Given the description of an element on the screen output the (x, y) to click on. 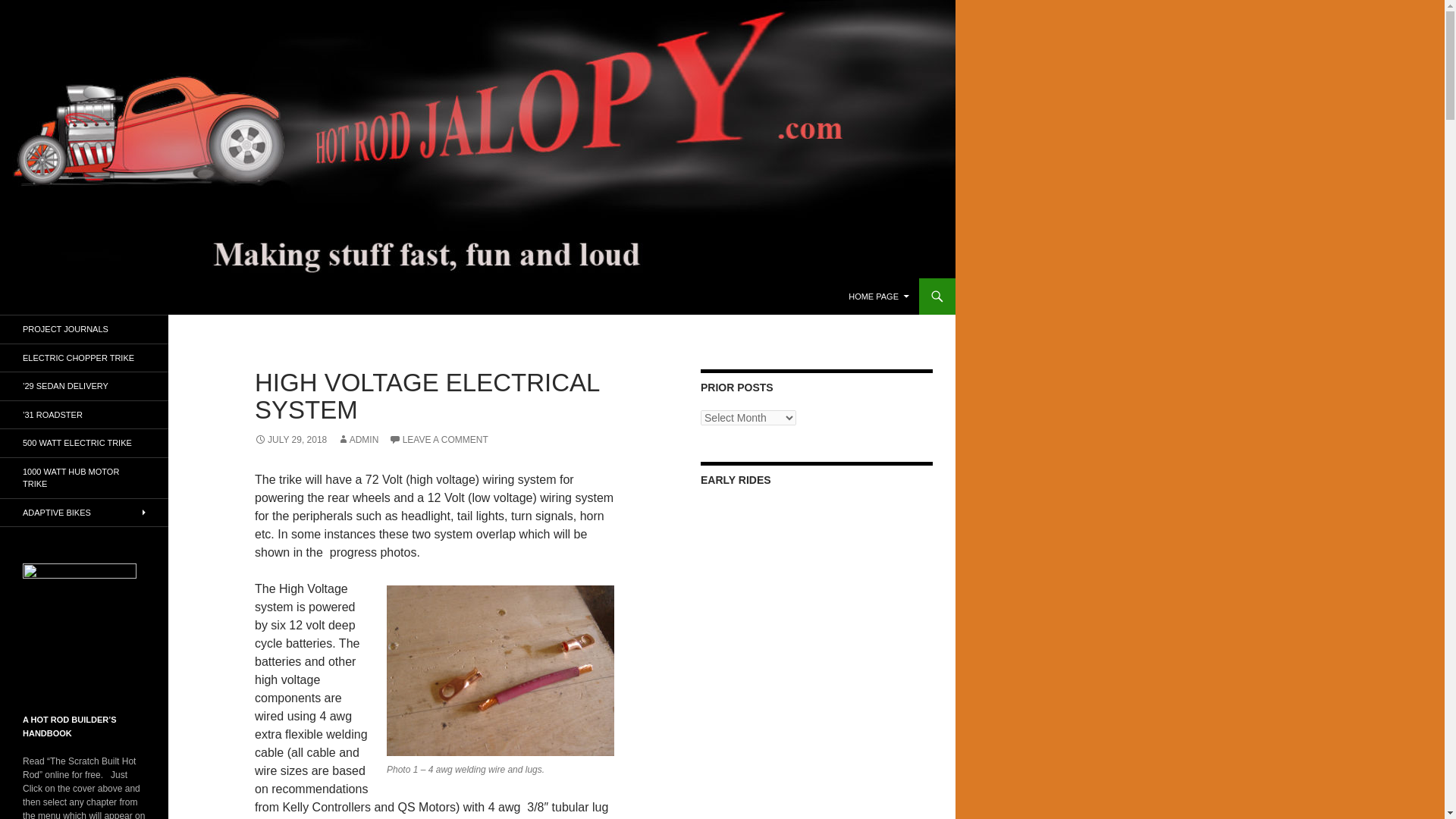
HOME PAGE (879, 296)
ADMIN (357, 439)
Hot Rod Jalopy Builder (98, 296)
LEAVE A COMMENT (437, 439)
JULY 29, 2018 (290, 439)
Go kart (816, 593)
